Given the description of an element on the screen output the (x, y) to click on. 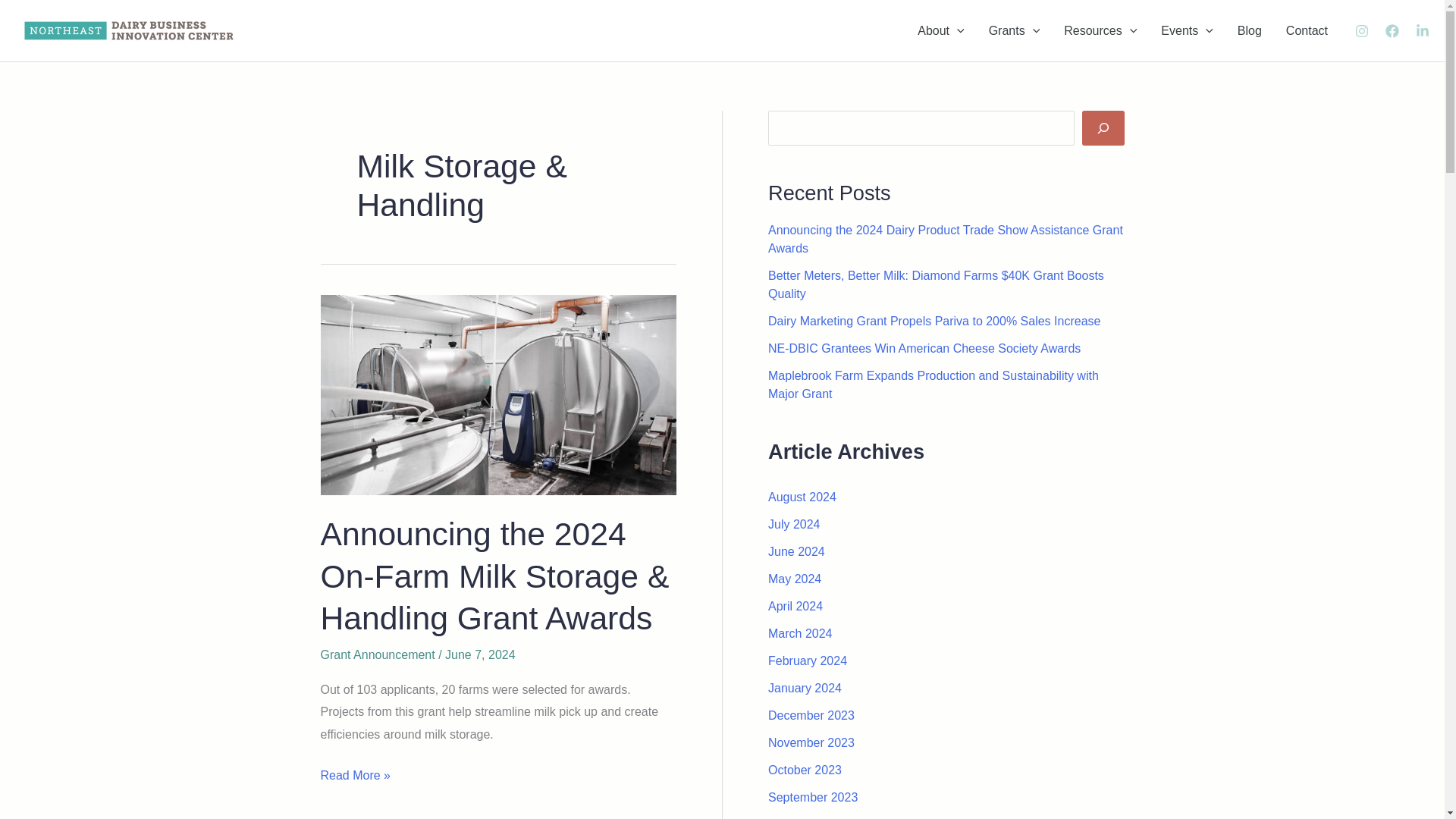
Events (1186, 30)
Blog (1249, 30)
Contact (1306, 30)
Resources (1099, 30)
Grants (1014, 30)
About (940, 30)
